Given the description of an element on the screen output the (x, y) to click on. 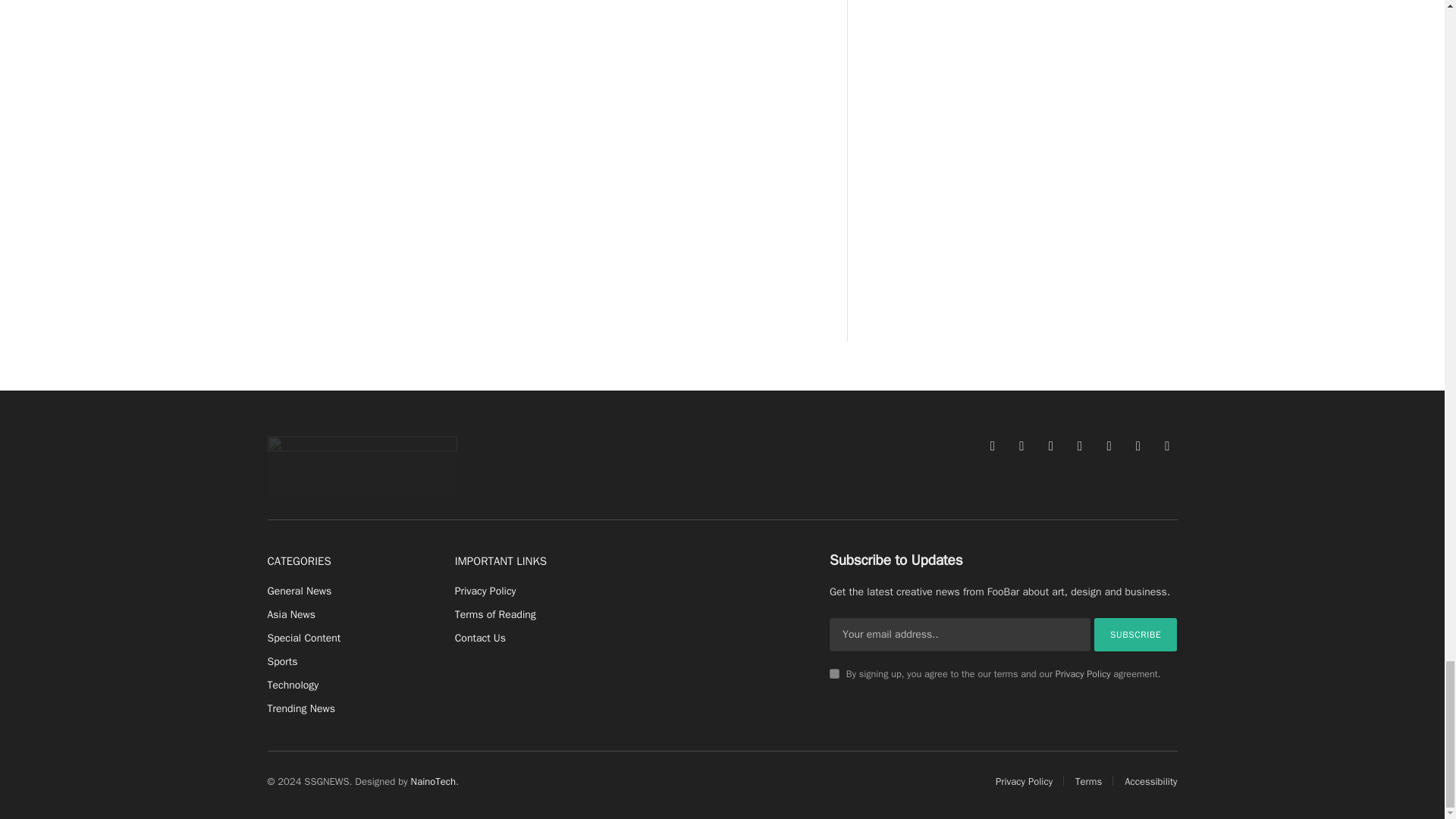
Subscribe (1135, 634)
on (834, 673)
